Given the description of an element on the screen output the (x, y) to click on. 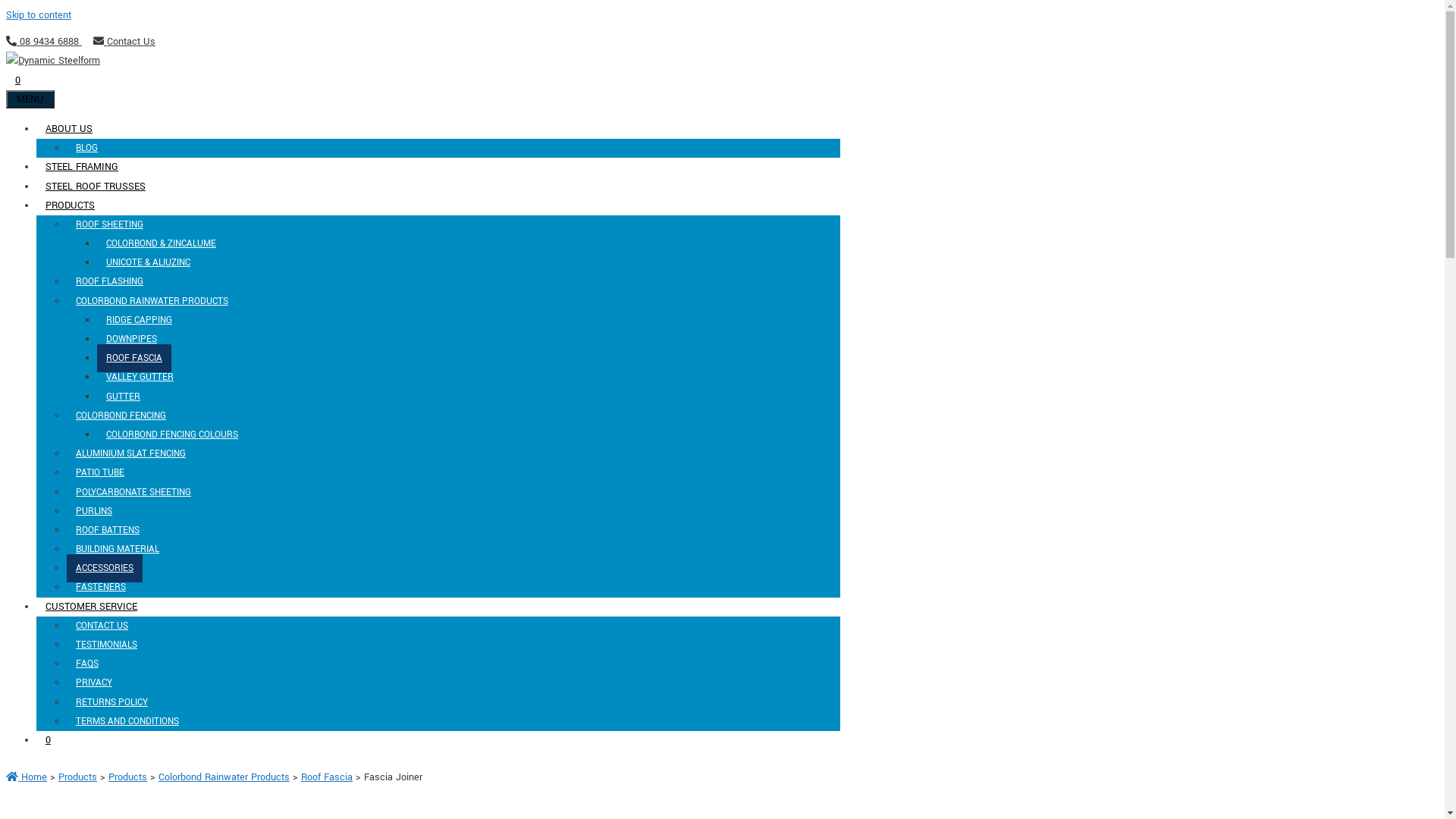
ROOF FLASHING Element type: text (109, 281)
COLORBOND RAINWATER PRODUCTS Element type: text (156, 301)
ALUMINIUM SLAT FENCING Element type: text (130, 453)
Products Element type: text (127, 777)
STEEL FRAMING Element type: text (81, 166)
0 Element type: text (17, 80)
FASTENERS Element type: text (100, 587)
MENU Element type: text (30, 99)
Colorbond Rainwater Products Element type: text (223, 777)
COLORBOND FENCING Element type: text (125, 415)
COLORBOND FENCING COLOURS Element type: text (172, 434)
Roof Fascia Element type: text (326, 777)
BUILDING MATERIAL Element type: text (117, 549)
DOWNPIPES Element type: text (131, 339)
RIDGE CAPPING Element type: text (139, 320)
Contact Us Element type: text (124, 41)
PRIVACY Element type: text (93, 682)
ROOF SHEETING Element type: text (113, 224)
ACCESSORIES Element type: text (104, 568)
Products Element type: text (77, 777)
ROOF BATTENS Element type: text (107, 530)
CUSTOMER SERVICE Element type: text (95, 606)
FAQS Element type: text (86, 663)
RETURNS POLICY Element type: text (111, 702)
UNICOTE & ALIUZINC Element type: text (148, 262)
GUTTER Element type: text (123, 396)
Home Element type: text (26, 777)
BLOG Element type: text (86, 148)
PRODUCTS Element type: text (74, 205)
CONTACT US Element type: text (101, 625)
08 9434 6888 Element type: text (49, 41)
POLYCARBONATE SHEETING Element type: text (133, 491)
Skip to content Element type: text (38, 14)
COLORBOND & ZINCALUME Element type: text (161, 243)
ABOUT US Element type: text (73, 128)
TERMS AND CONDITIONS Element type: text (127, 721)
STEEL ROOF TRUSSES Element type: text (95, 185)
PURLINS Element type: text (93, 511)
VALLEY GUTTER Element type: text (139, 377)
0 Element type: text (47, 739)
ROOF FASCIA Element type: text (134, 358)
PATIO TUBE Element type: text (99, 472)
TESTIMONIALS Element type: text (106, 644)
